Given the description of an element on the screen output the (x, y) to click on. 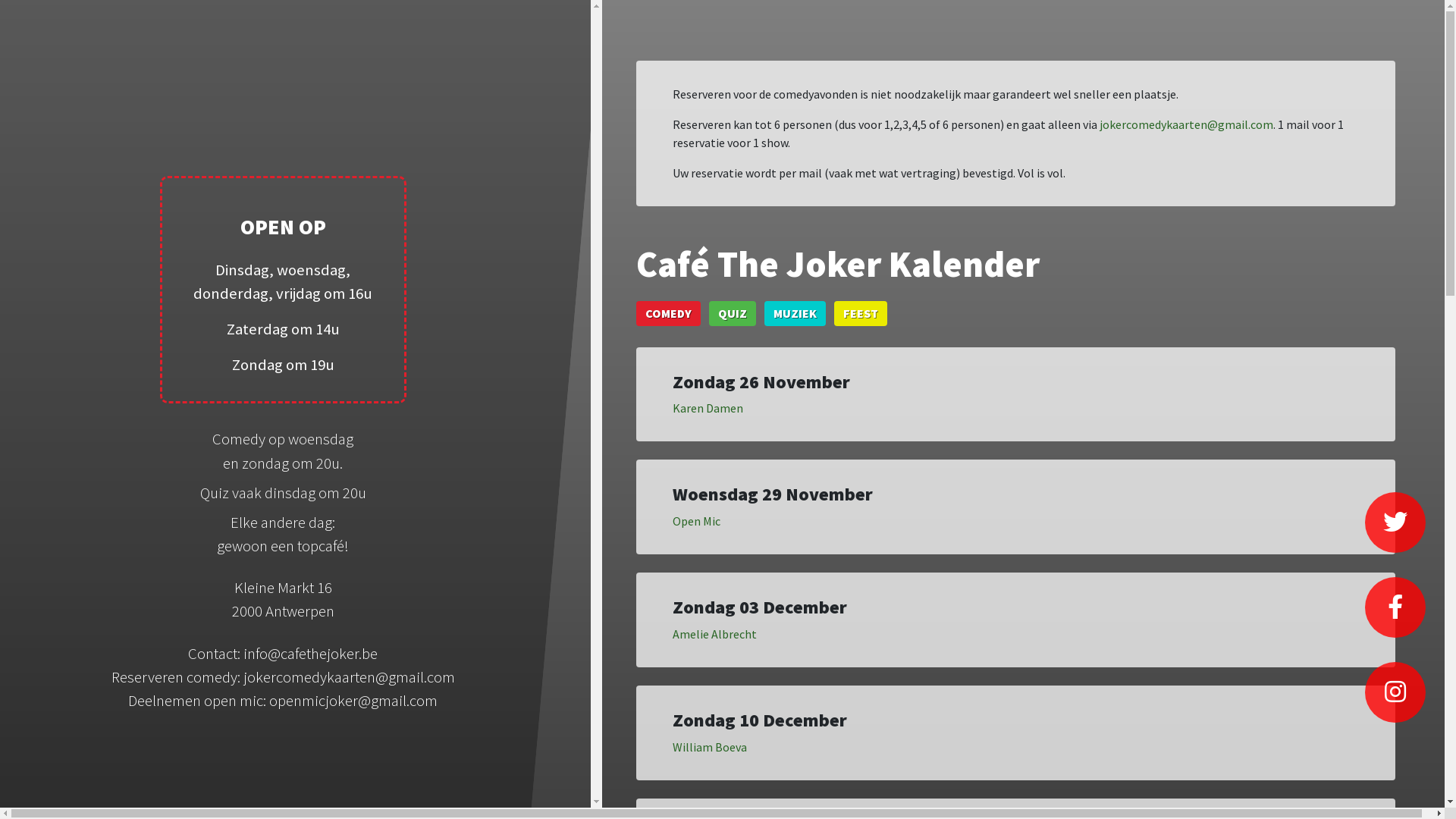
Amelie Albrecht Element type: text (714, 633)
openmicjoker@gmail.com Element type: text (353, 700)
Karen Damen Element type: text (707, 407)
Open Mic Element type: text (696, 520)
info@cafethejoker.be Element type: text (310, 653)
William Boeva Element type: text (709, 746)
jokercomedykaarten@gmail.com Element type: text (1186, 123)
Kleine Markt 16
2000 Antwerpen Element type: text (283, 599)
jokercomedykaarten@gmail.com Element type: text (349, 677)
